Given the description of an element on the screen output the (x, y) to click on. 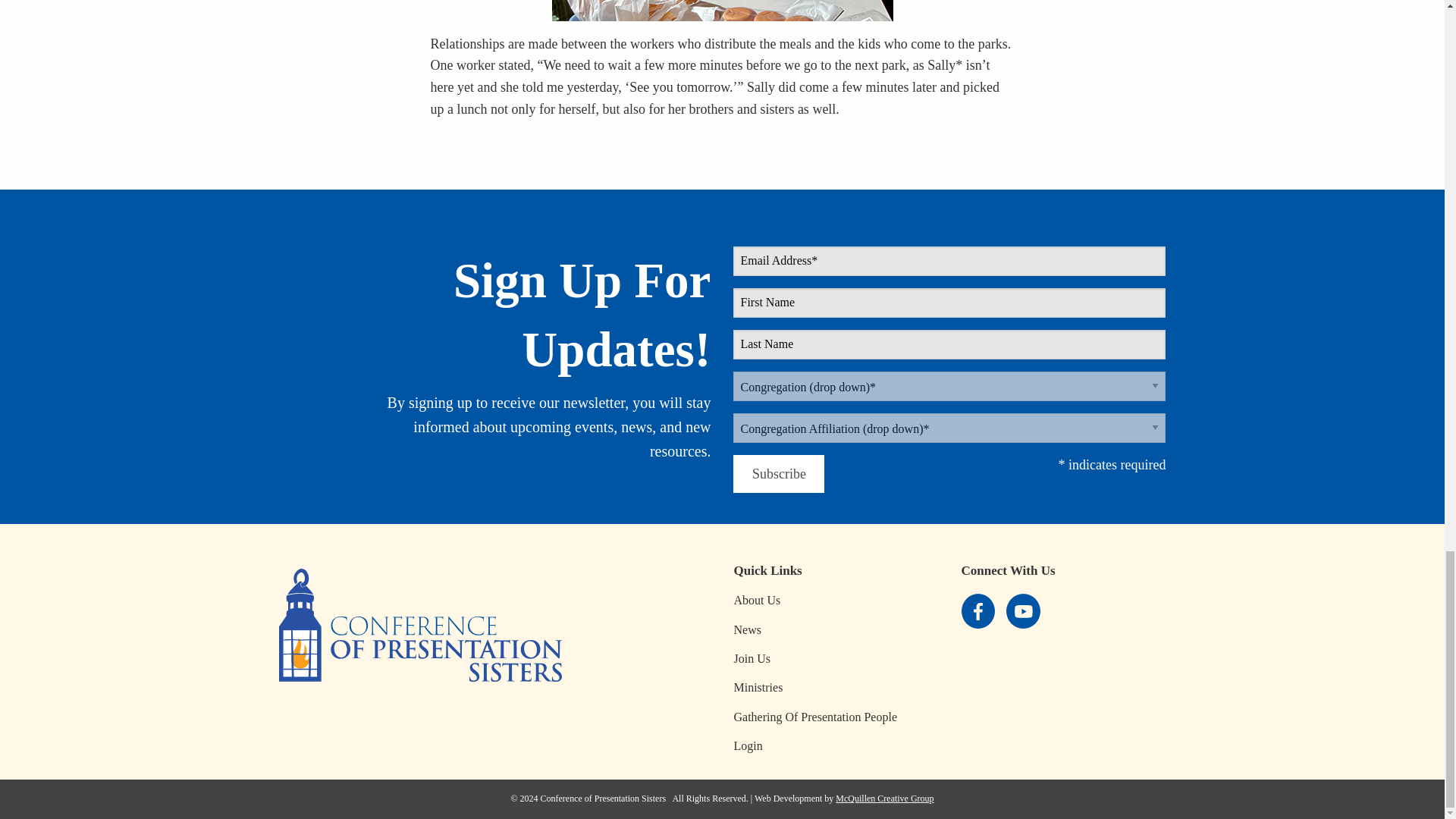
Subscribe (778, 474)
